Given the description of an element on the screen output the (x, y) to click on. 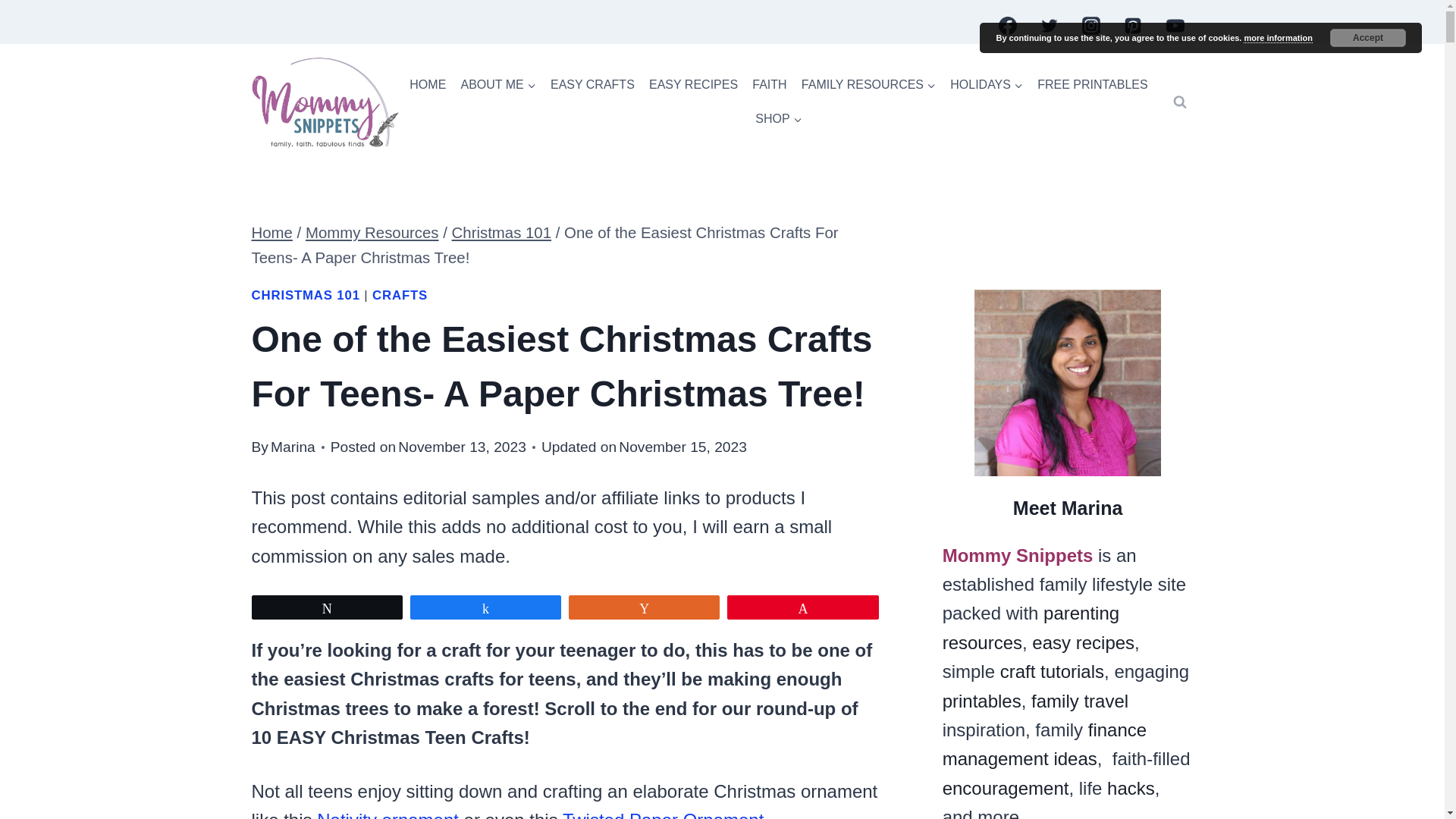
EASY RECIPES (693, 84)
HOME (427, 84)
FAITH (769, 84)
About Me (497, 84)
FAMILY RESOURCES (867, 84)
HOLIDAYS (986, 84)
ABOUT ME (497, 84)
EASY CRAFTS (592, 84)
